Given the description of an element on the screen output the (x, y) to click on. 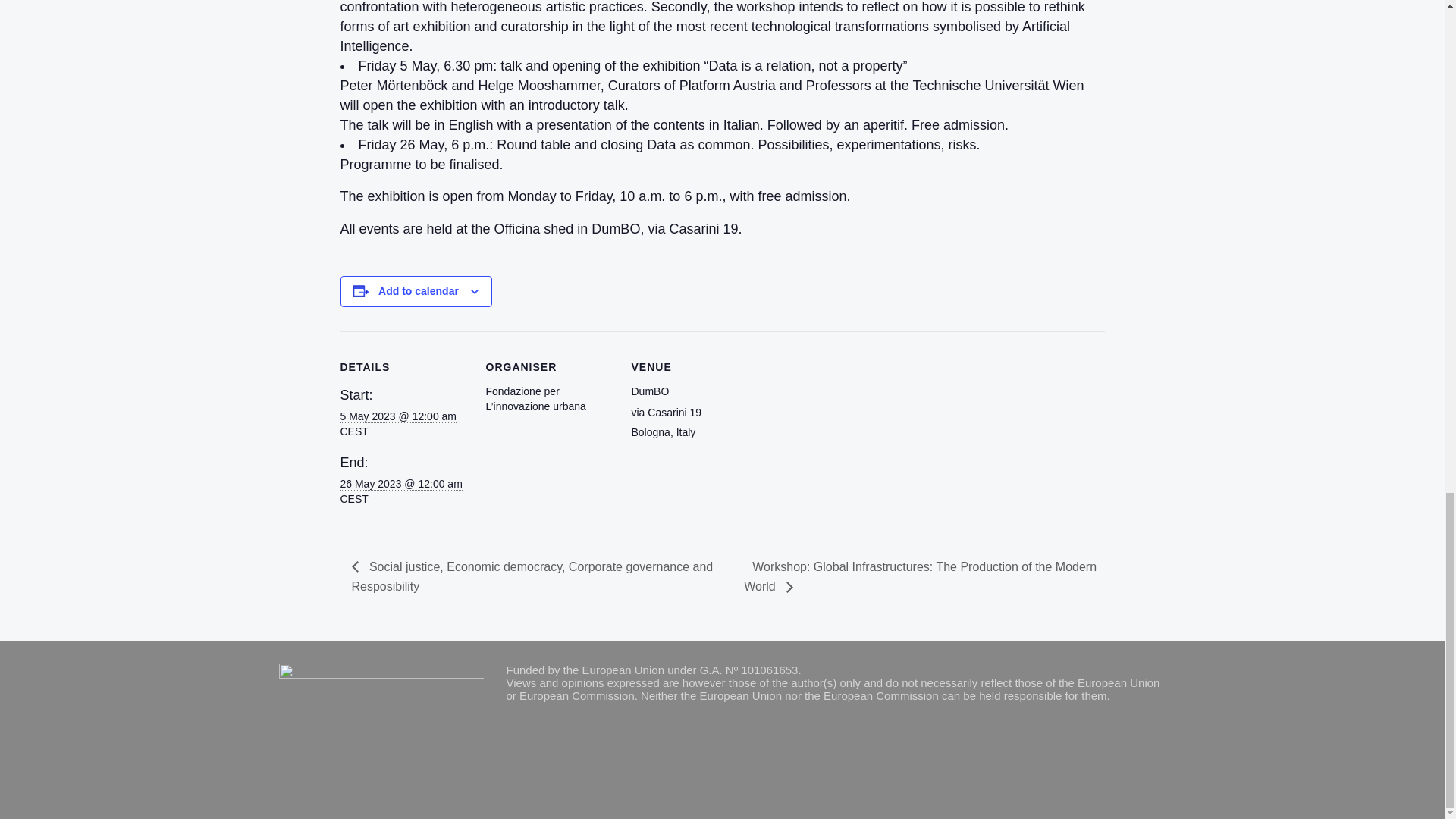
Add to calendar (418, 291)
2023-05-05 (398, 416)
2023-05-26 (400, 483)
